Given the description of an element on the screen output the (x, y) to click on. 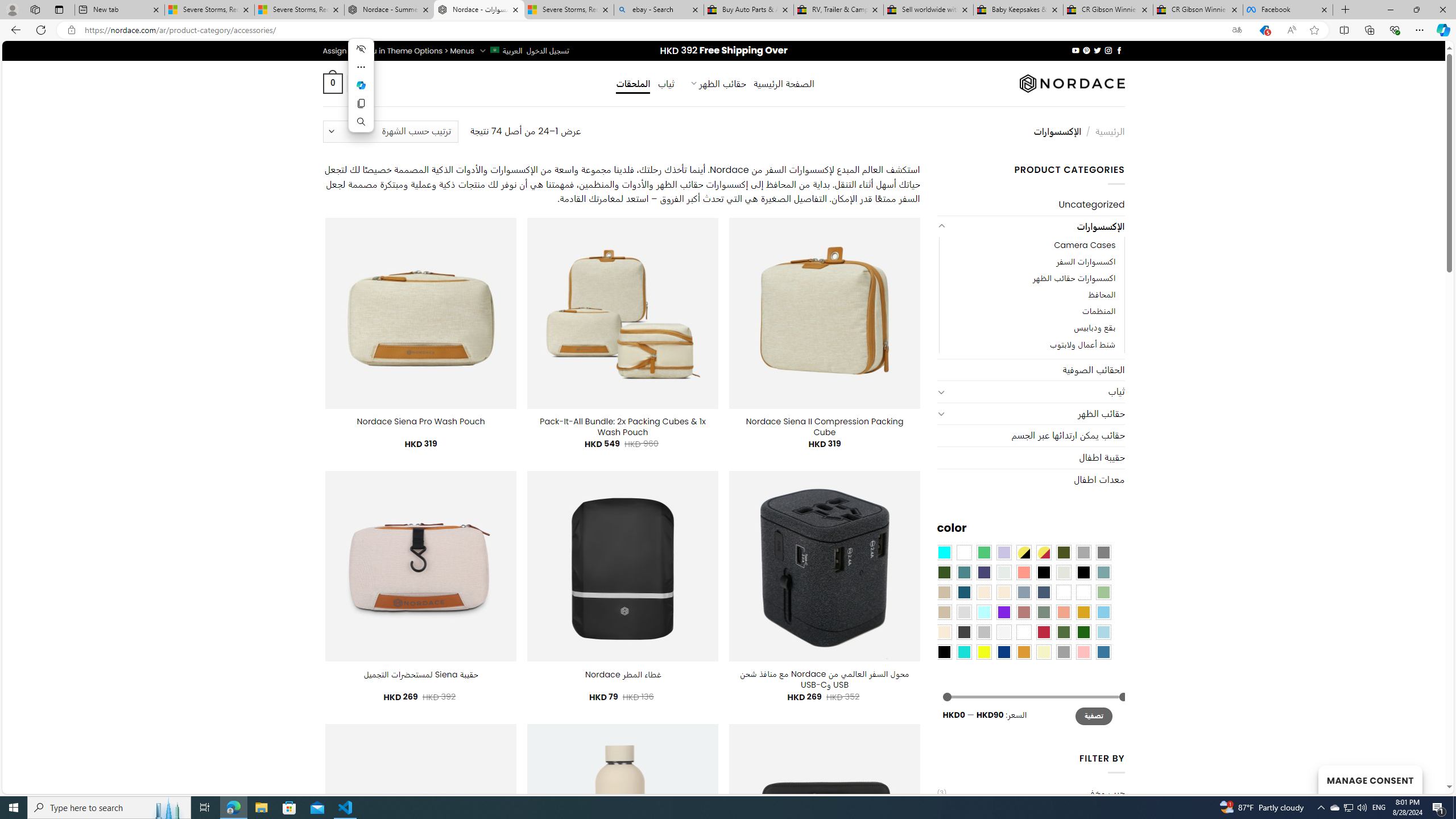
All Black (1043, 572)
Show translate options (1236, 29)
Sage (1043, 611)
Mini menu on text selection (360, 84)
Dusty Blue (1023, 591)
Assign a menu in Theme Options > Menus (397, 50)
This site has coupons! Shopping in Microsoft Edge, 5 (1263, 29)
  0   (332, 83)
